Given the description of an element on the screen output the (x, y) to click on. 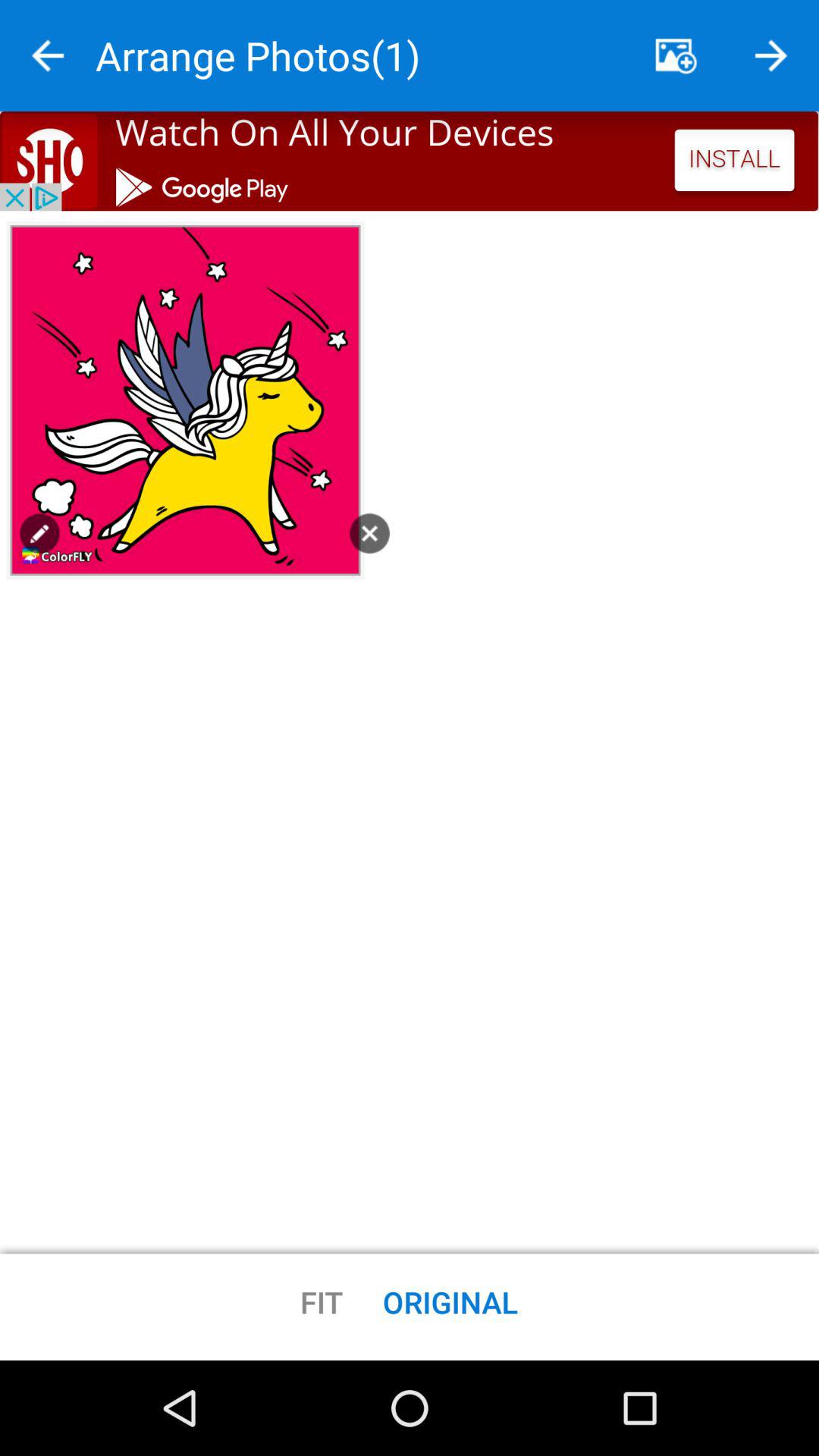
next the option (771, 55)
